Given the description of an element on the screen output the (x, y) to click on. 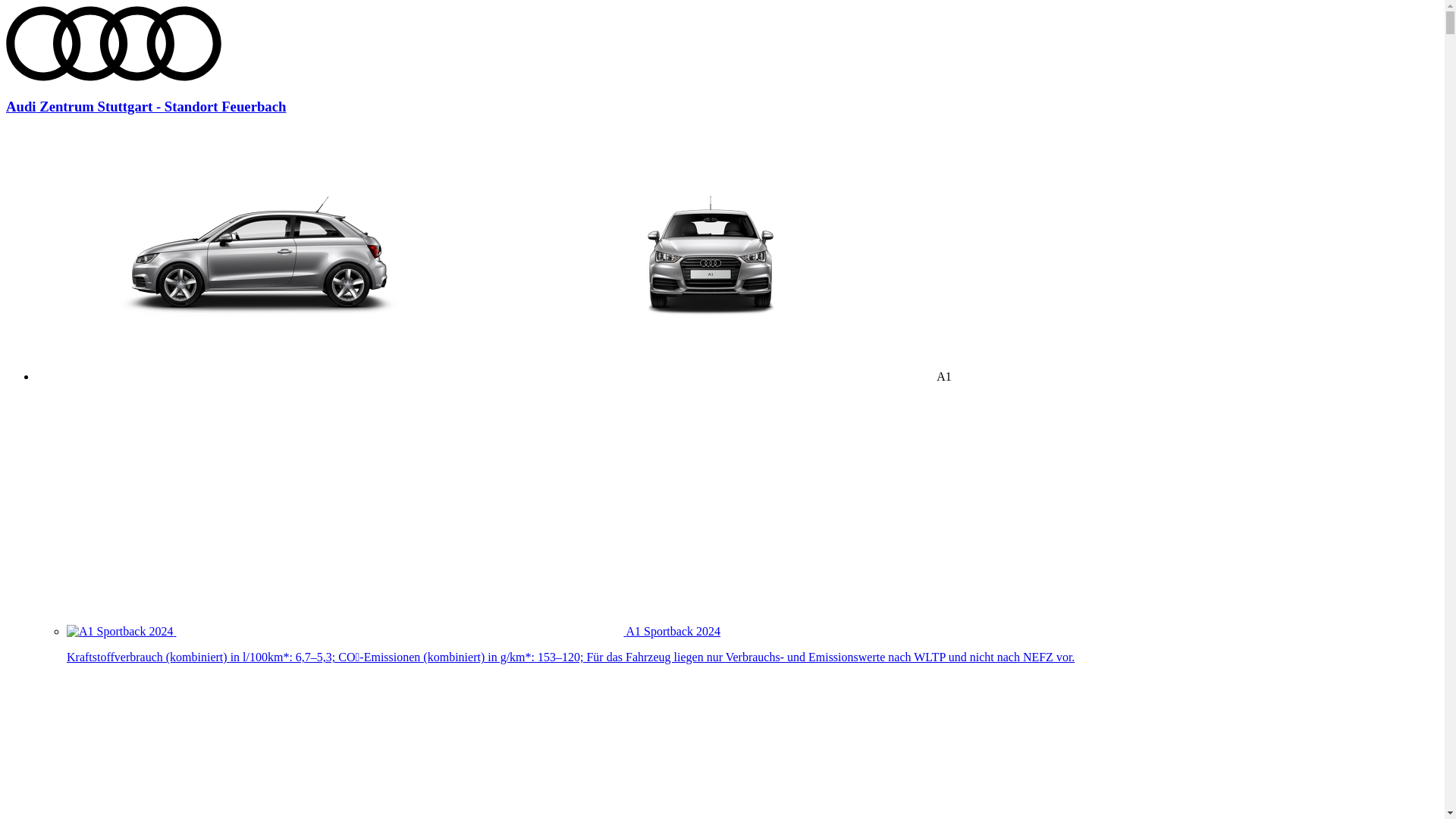
Audi Zentrum Stuttgart - Standort Feuerbach Element type: text (722, 92)
A1 Element type: text (493, 376)
